Given the description of an element on the screen output the (x, y) to click on. 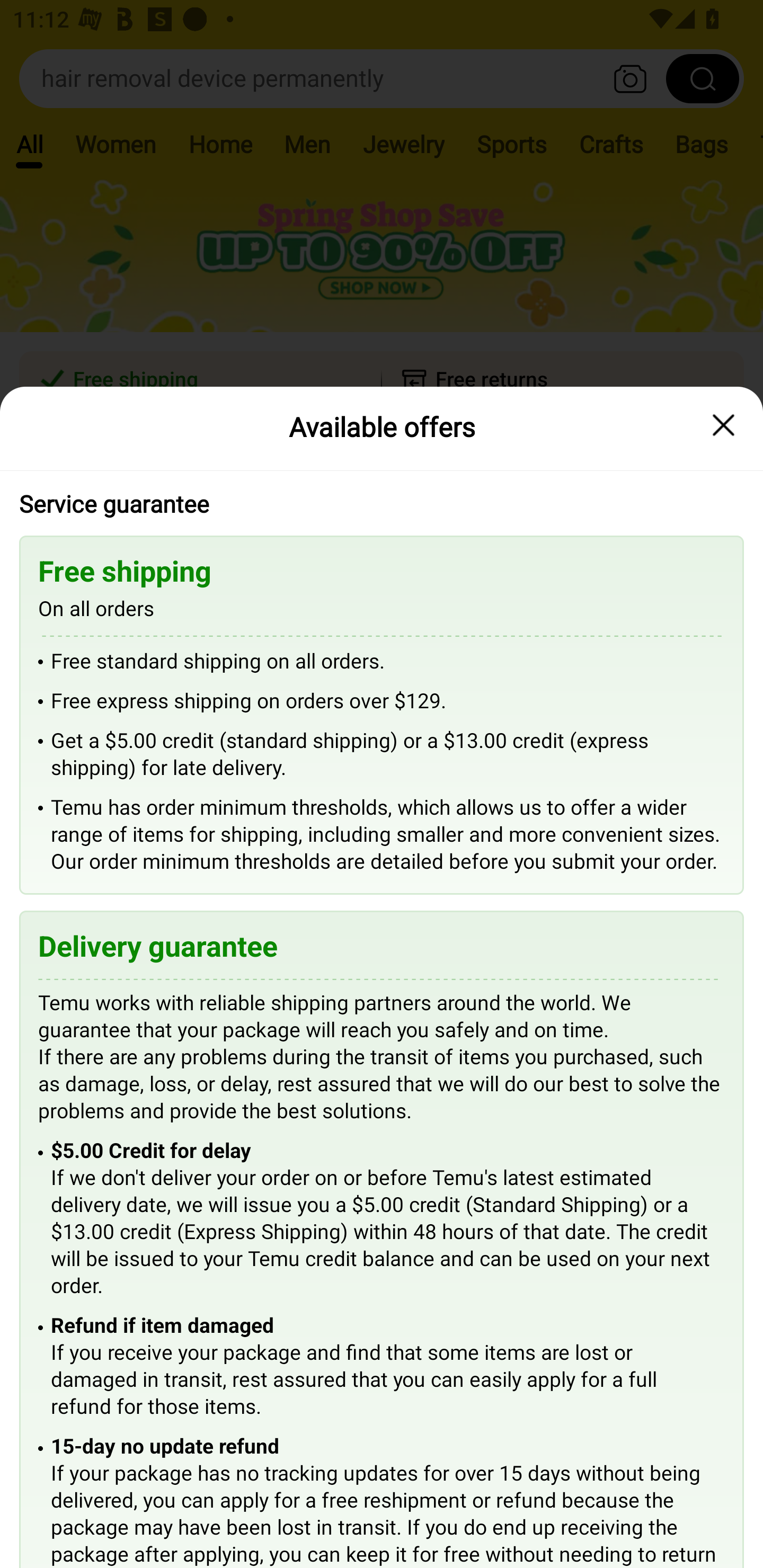
Lightning deals (379, 524)
